Given the description of an element on the screen output the (x, y) to click on. 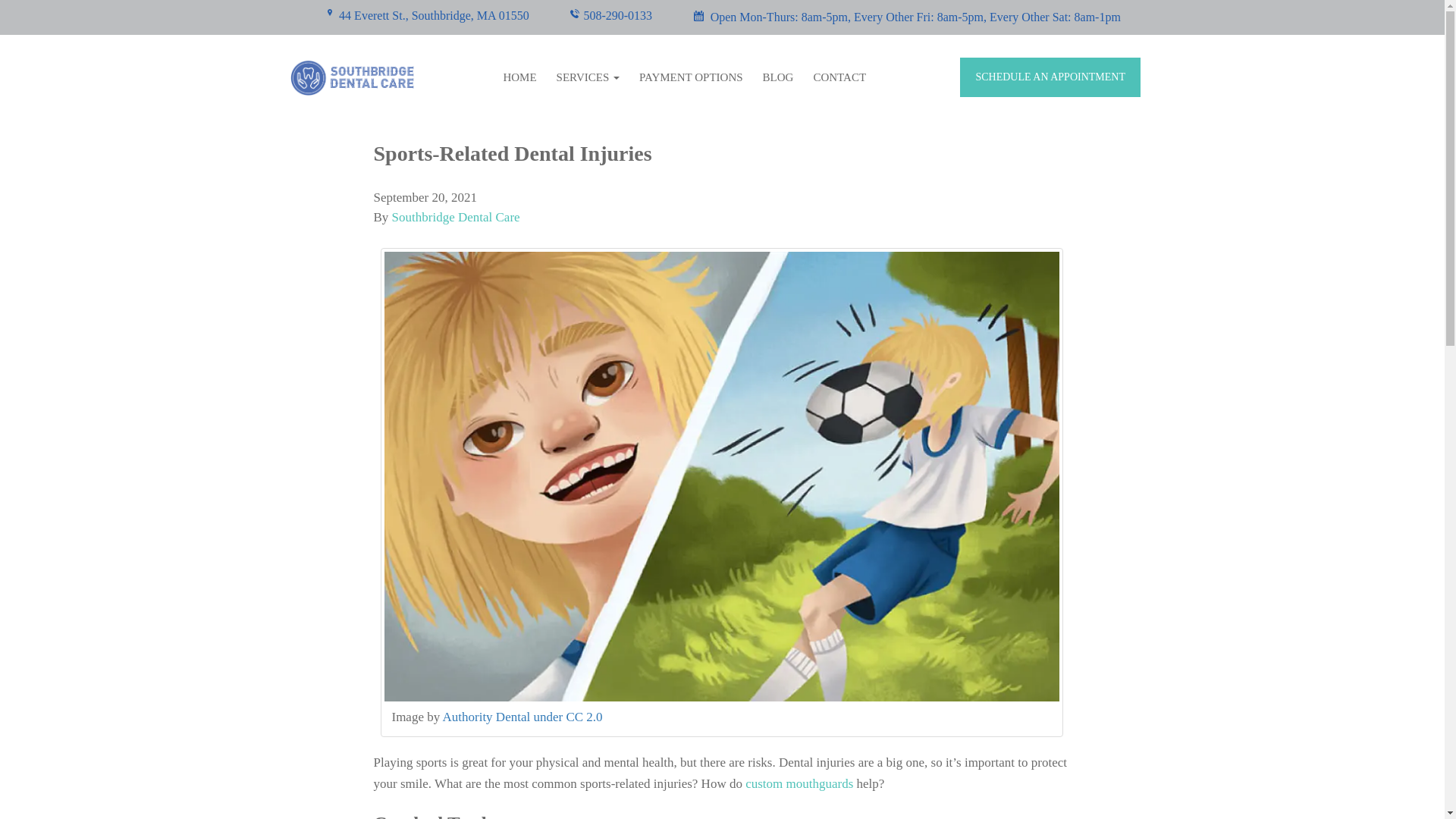
BLOG (777, 77)
44 Everett St., Southbridge, MA 01550 (426, 17)
508-290-0133 (609, 17)
PAYMENT OPTIONS (690, 77)
Services (587, 77)
Home (519, 77)
Southbridge Dental Care (455, 216)
HOME (519, 77)
CONTACT (839, 77)
508-290-0133 (609, 17)
custom mouthguards (800, 783)
SERVICES (587, 77)
SCHEDULE AN APPOINTMENT (1049, 77)
Authority Dental under CC 2.0 (522, 716)
